Given the description of an element on the screen output the (x, y) to click on. 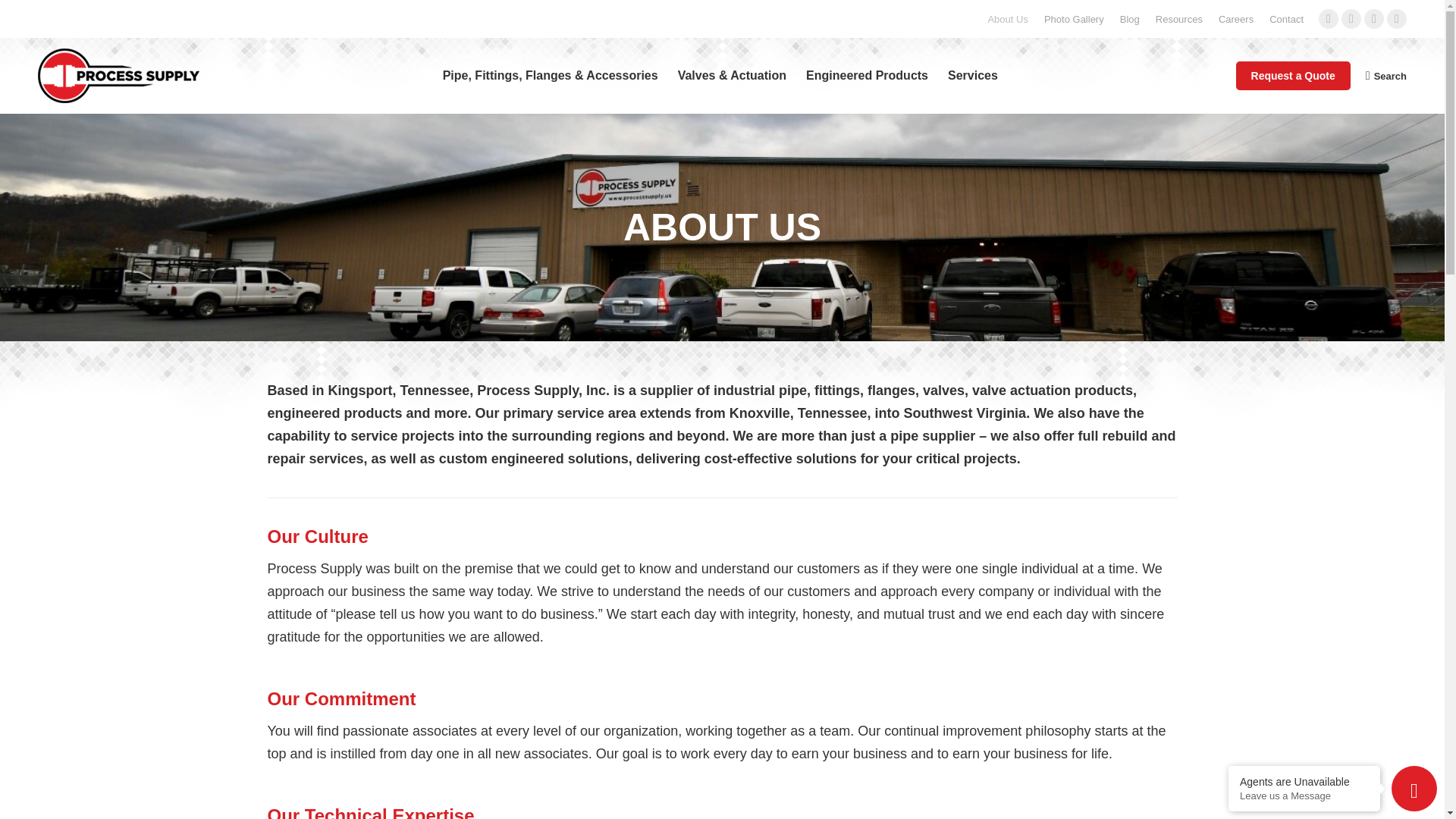
Linkedin page opens in new window (1374, 18)
Resources (1179, 19)
X page opens in new window (1350, 18)
Blog (1129, 19)
Linkedin page opens in new window (1374, 18)
X page opens in new window (1350, 18)
Instagram page opens in new window (1396, 18)
About Us (1007, 19)
Contact (1286, 19)
Instagram page opens in new window (1396, 18)
Facebook page opens in new window (1328, 18)
Photo Gallery (1073, 19)
Facebook page opens in new window (1328, 18)
Careers (1235, 19)
